Given the description of an element on the screen output the (x, y) to click on. 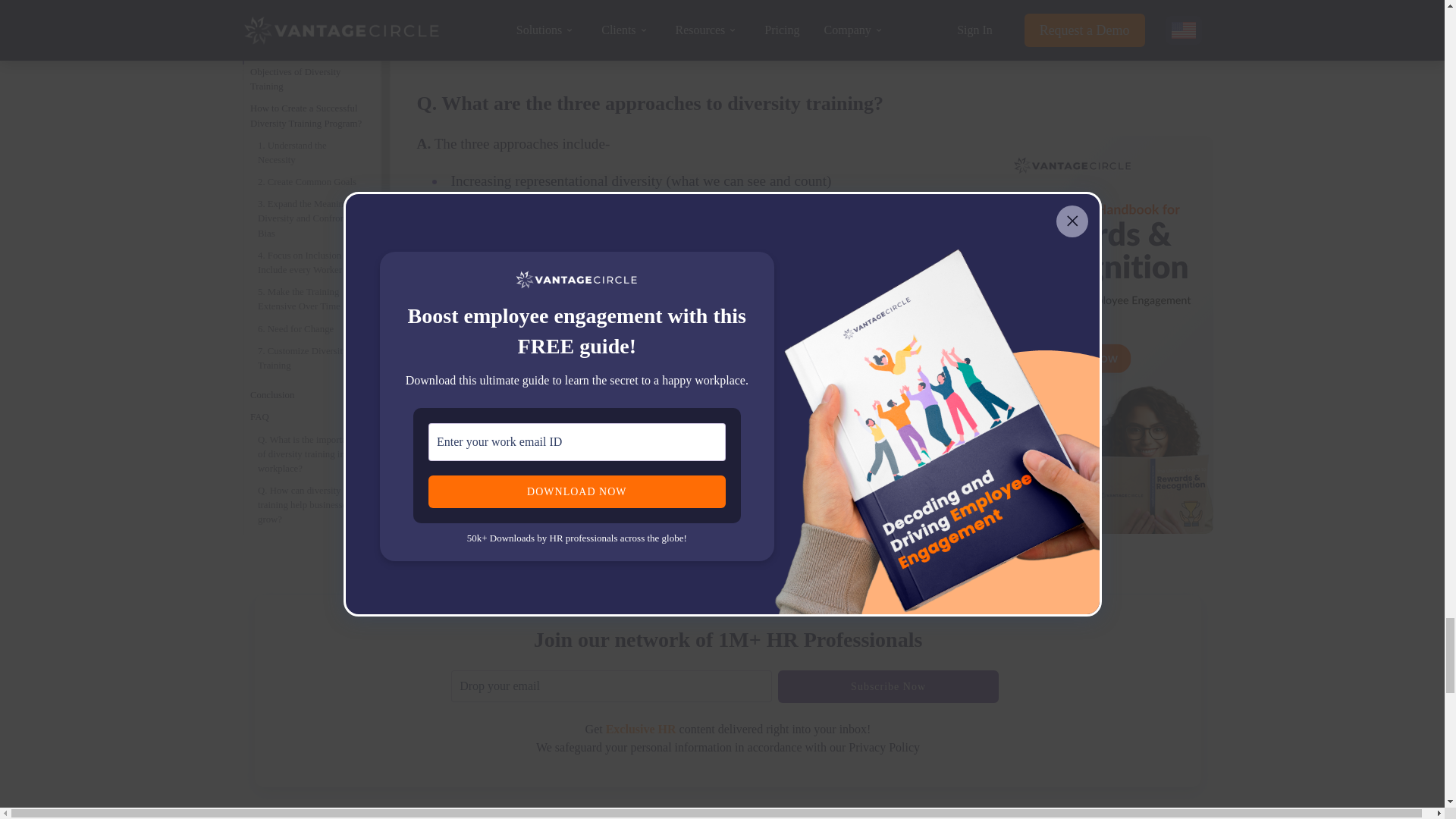
Subscribe Now (887, 686)
